Given the description of an element on the screen output the (x, y) to click on. 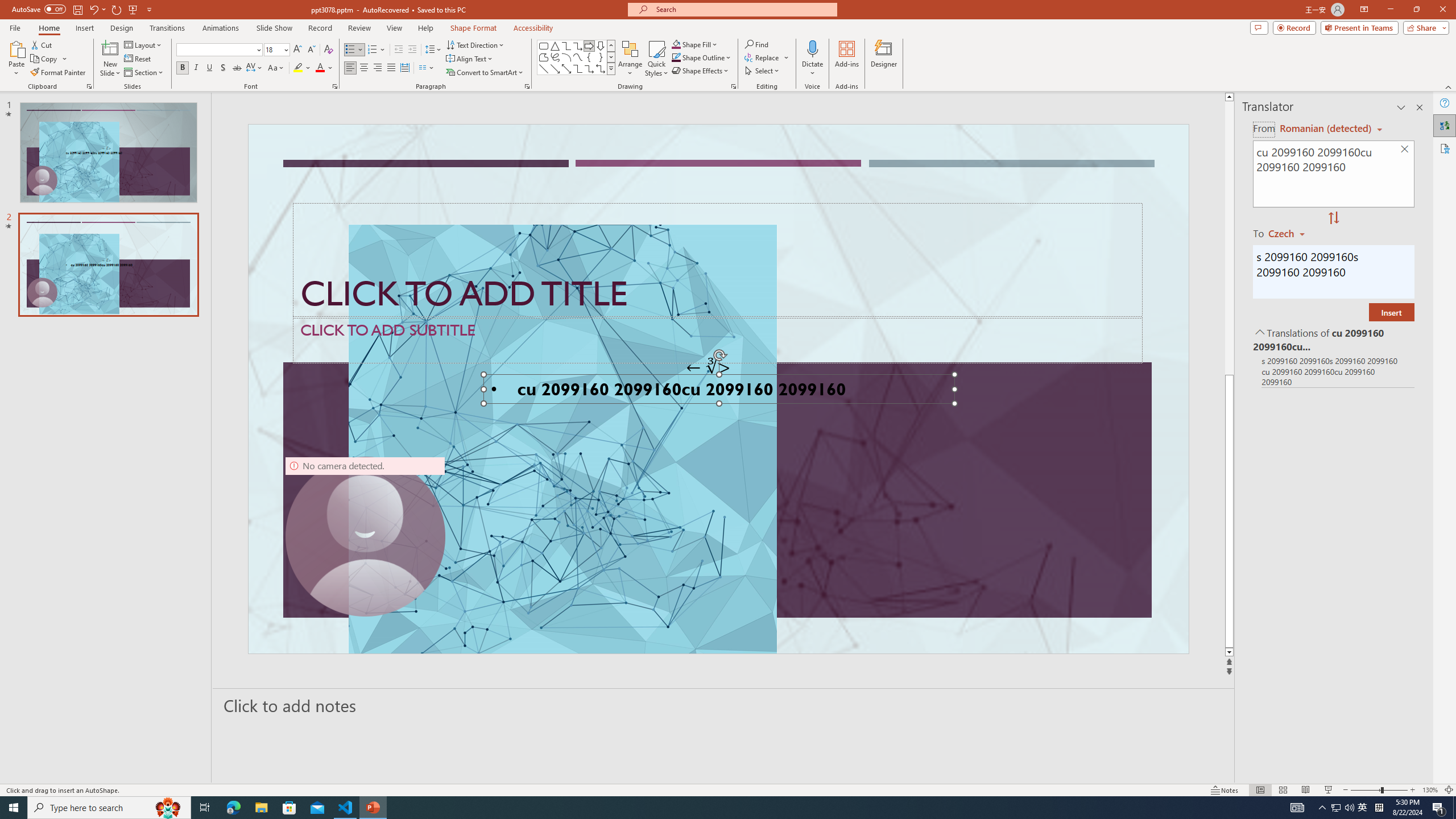
Translations of cu 2099160 2099160cu 2099160 2099160 (1333, 338)
